Given the description of an element on the screen output the (x, y) to click on. 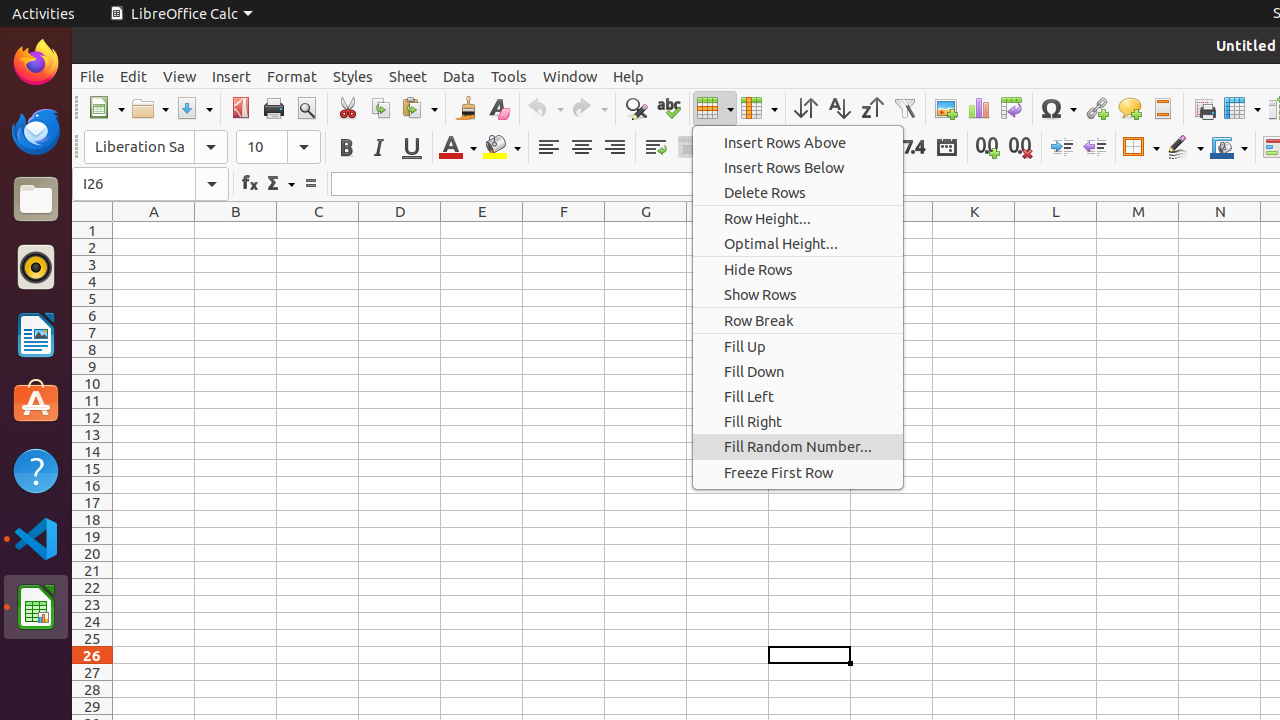
Firefox Web Browser Element type: push-button (36, 63)
LibreOffice Calc Element type: menu (181, 13)
